Given the description of an element on the screen output the (x, y) to click on. 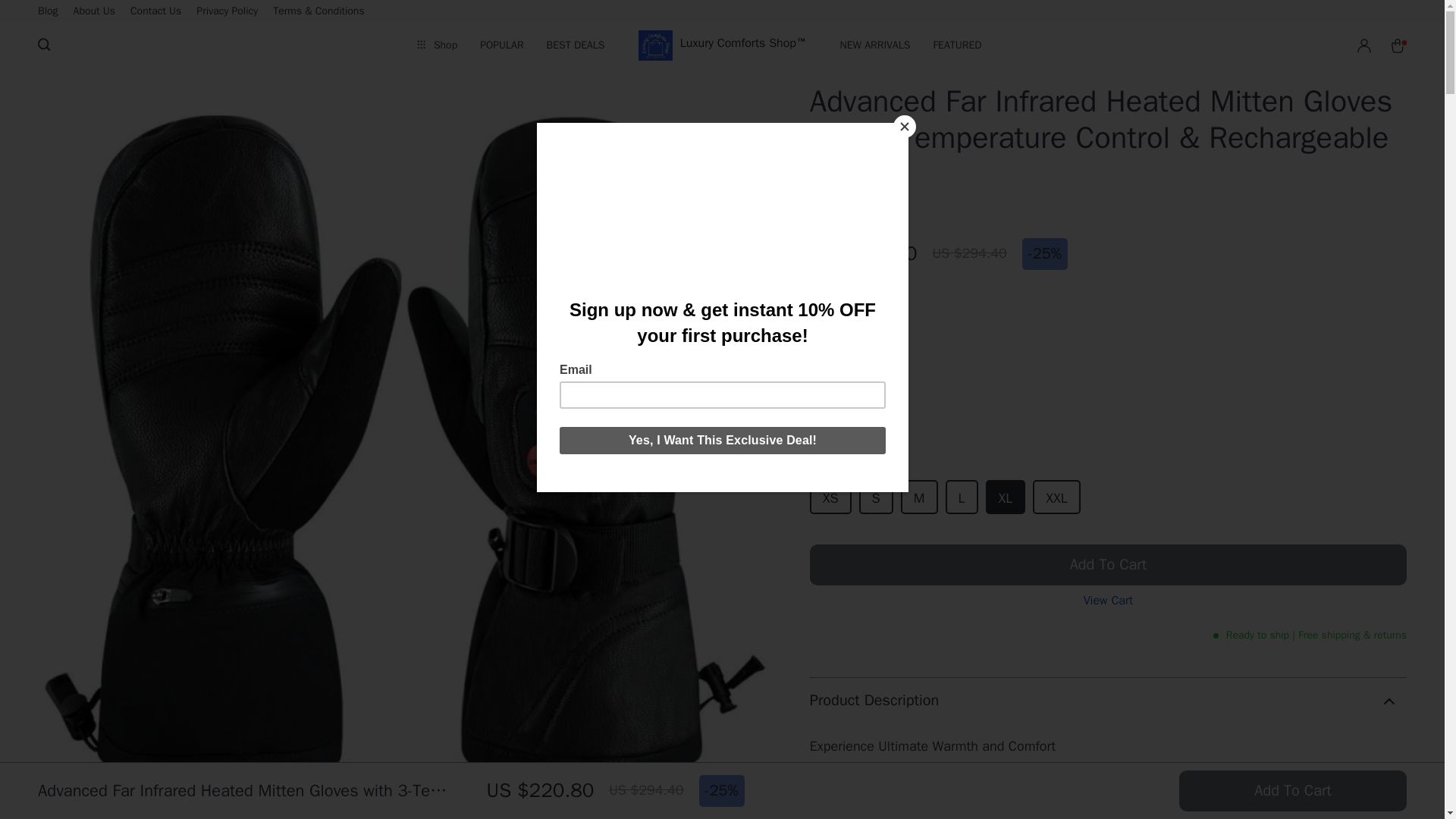
Black (832, 414)
1 (852, 309)
Contact Us (155, 10)
About Us (1107, 439)
Privacy Policy (94, 10)
Blog (226, 10)
